Given the description of an element on the screen output the (x, y) to click on. 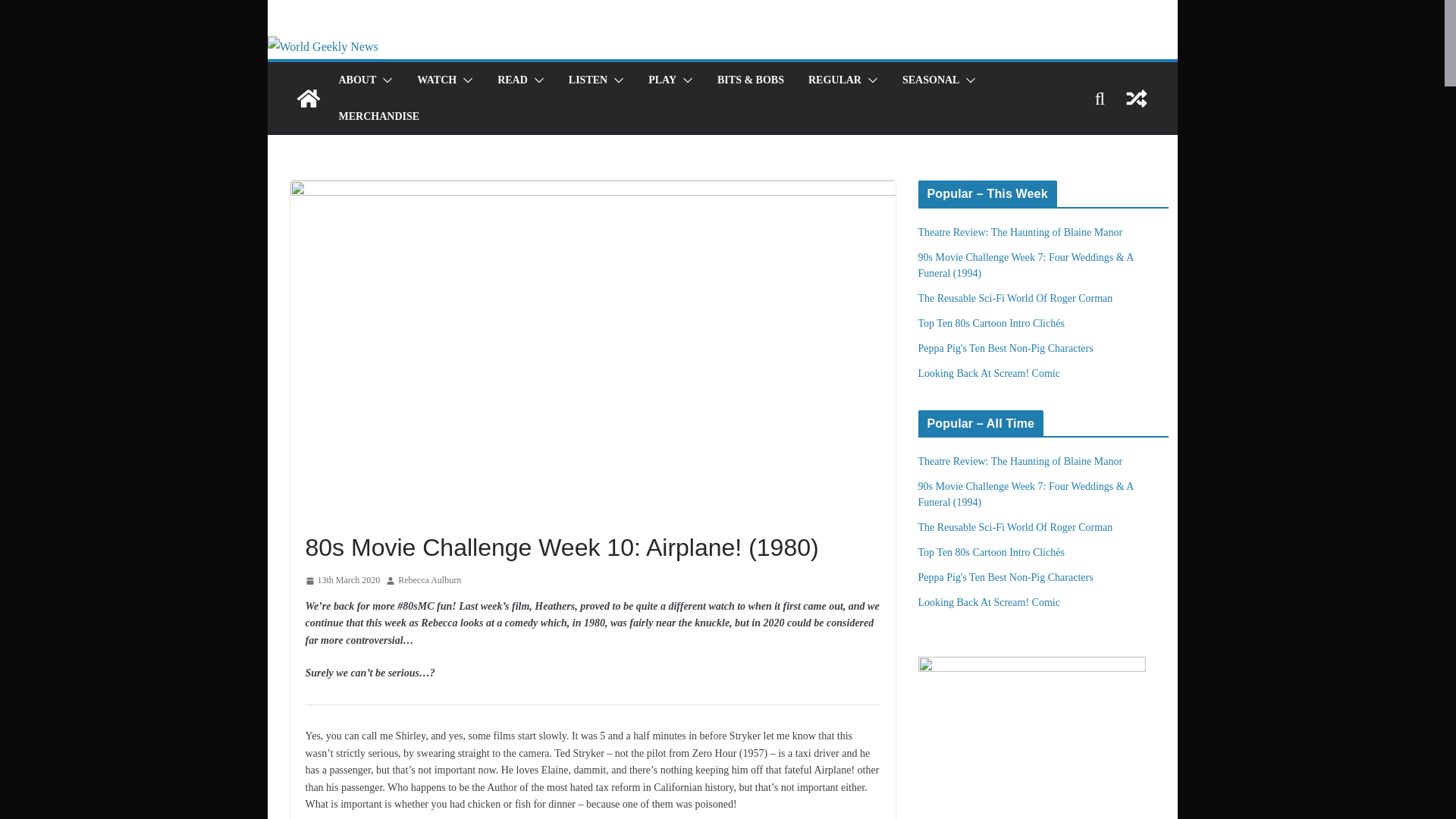
READ (512, 79)
World Geekly News (307, 98)
View a random post (1136, 98)
ABOUT (356, 79)
10:00 (342, 580)
PLAY (662, 79)
World Geekly News (321, 46)
LISTEN (588, 79)
WATCH (436, 79)
Rebecca Aulburn (429, 580)
